Given the description of an element on the screen output the (x, y) to click on. 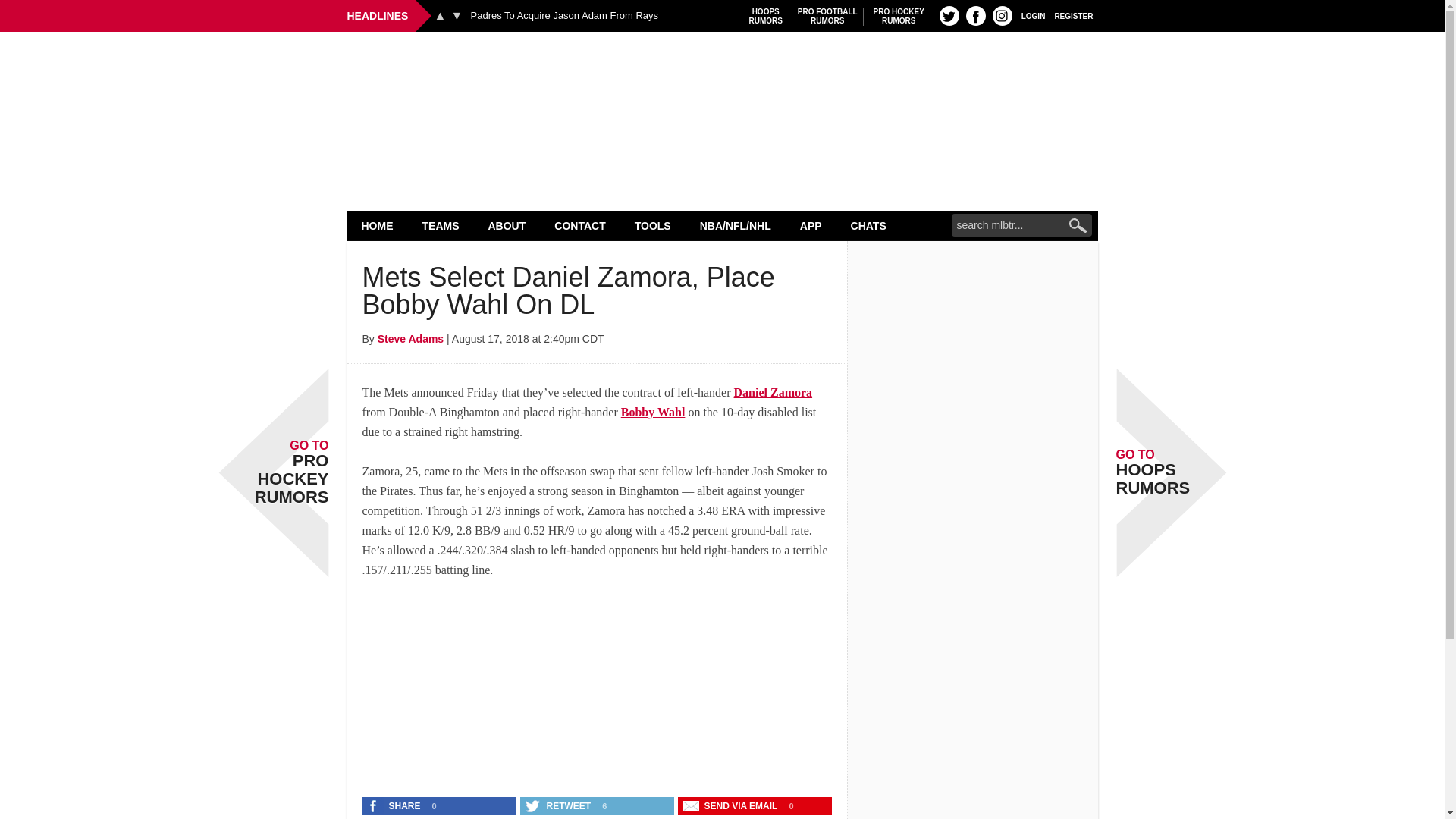
FB profile (975, 15)
LOGIN (1032, 15)
Padres To Acquire Jason Adam From Rays (564, 15)
MLB Trade Rumors (722, 69)
REGISTER (1073, 15)
Instagram profile (1001, 15)
HOME (377, 225)
TEAMS (440, 225)
